Given the description of an element on the screen output the (x, y) to click on. 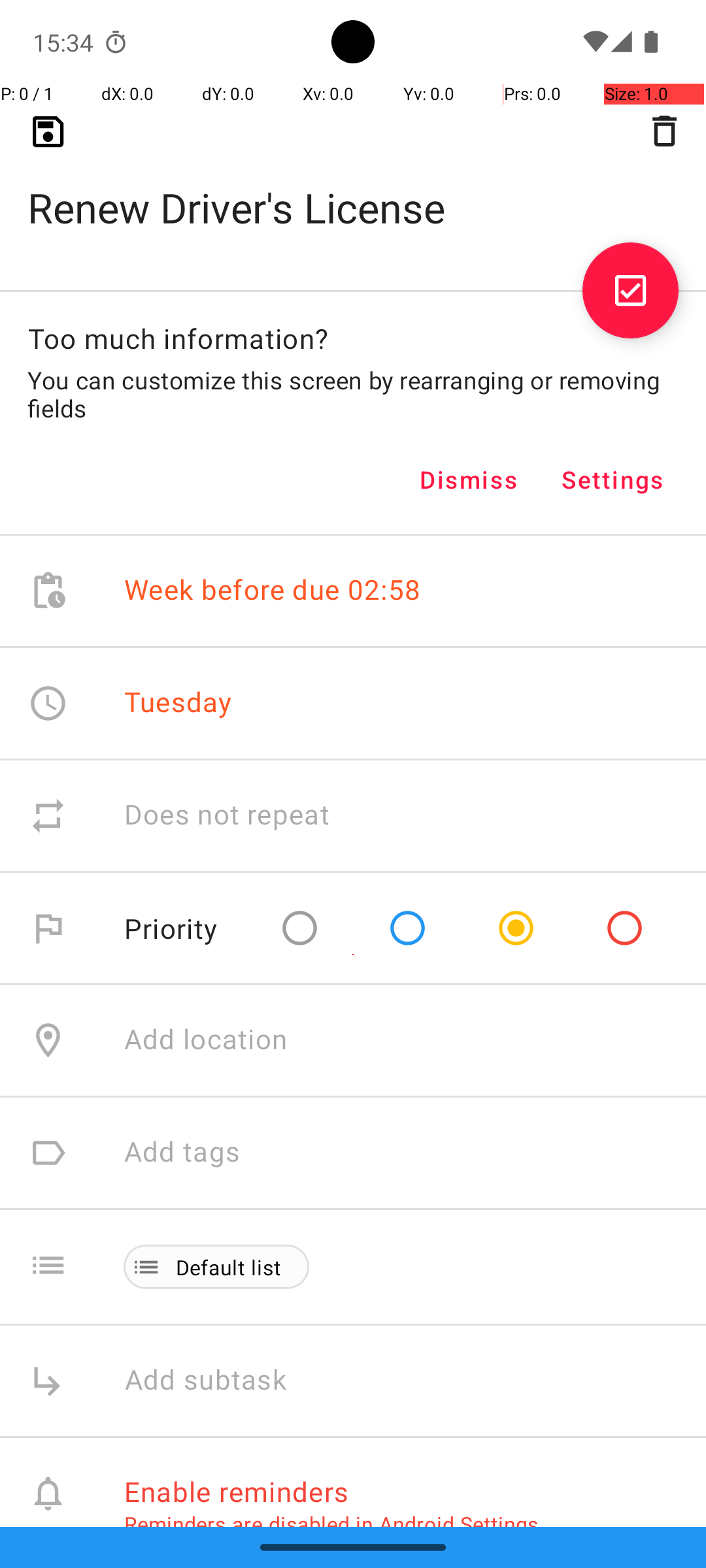
Week before due 02:58 Element type: android.widget.TextView (272, 590)
